Given the description of an element on the screen output the (x, y) to click on. 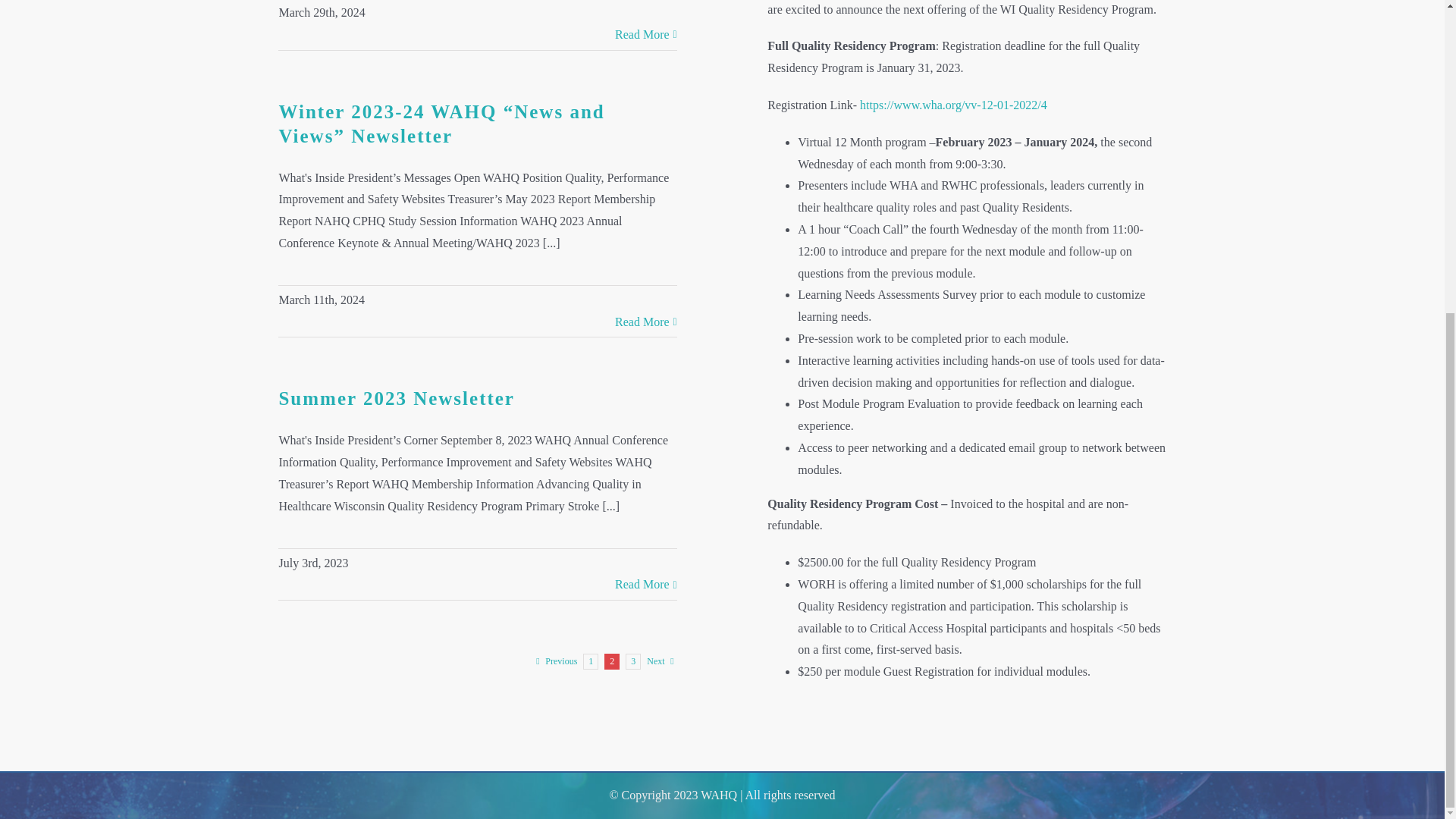
Summer 2023 Newsletter (396, 398)
Read More (641, 34)
Previous (560, 661)
Read More (641, 585)
3 (633, 661)
Read More (641, 322)
1 (590, 661)
